Given the description of an element on the screen output the (x, y) to click on. 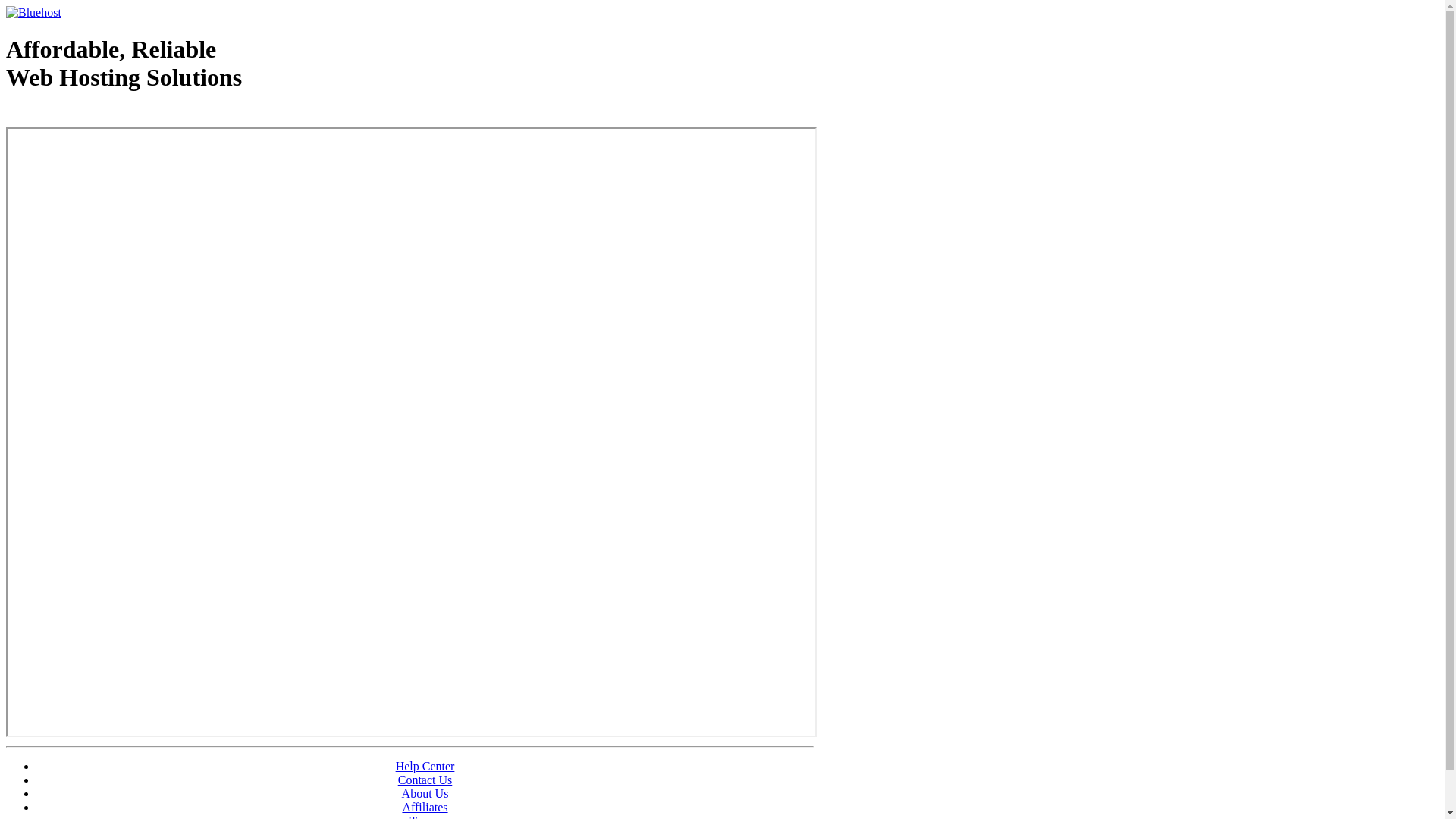
Web Hosting - courtesy of www.bluehost.com Element type: text (94, 115)
Affiliates Element type: text (424, 806)
Contact Us Element type: text (425, 779)
Help Center Element type: text (425, 765)
About Us Element type: text (424, 793)
